Given the description of an element on the screen output the (x, y) to click on. 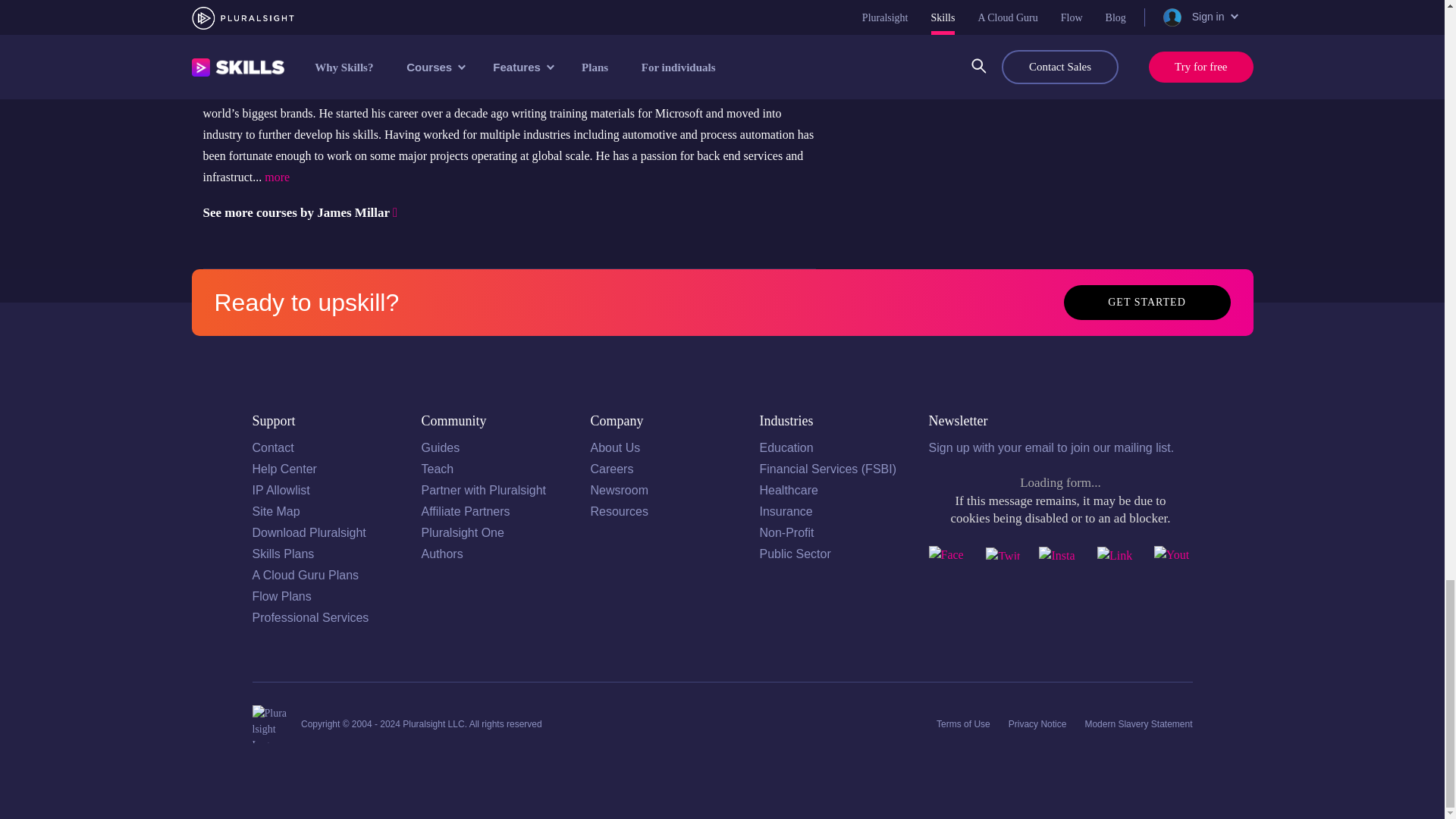
Get started (1146, 302)
